Given the description of an element on the screen output the (x, y) to click on. 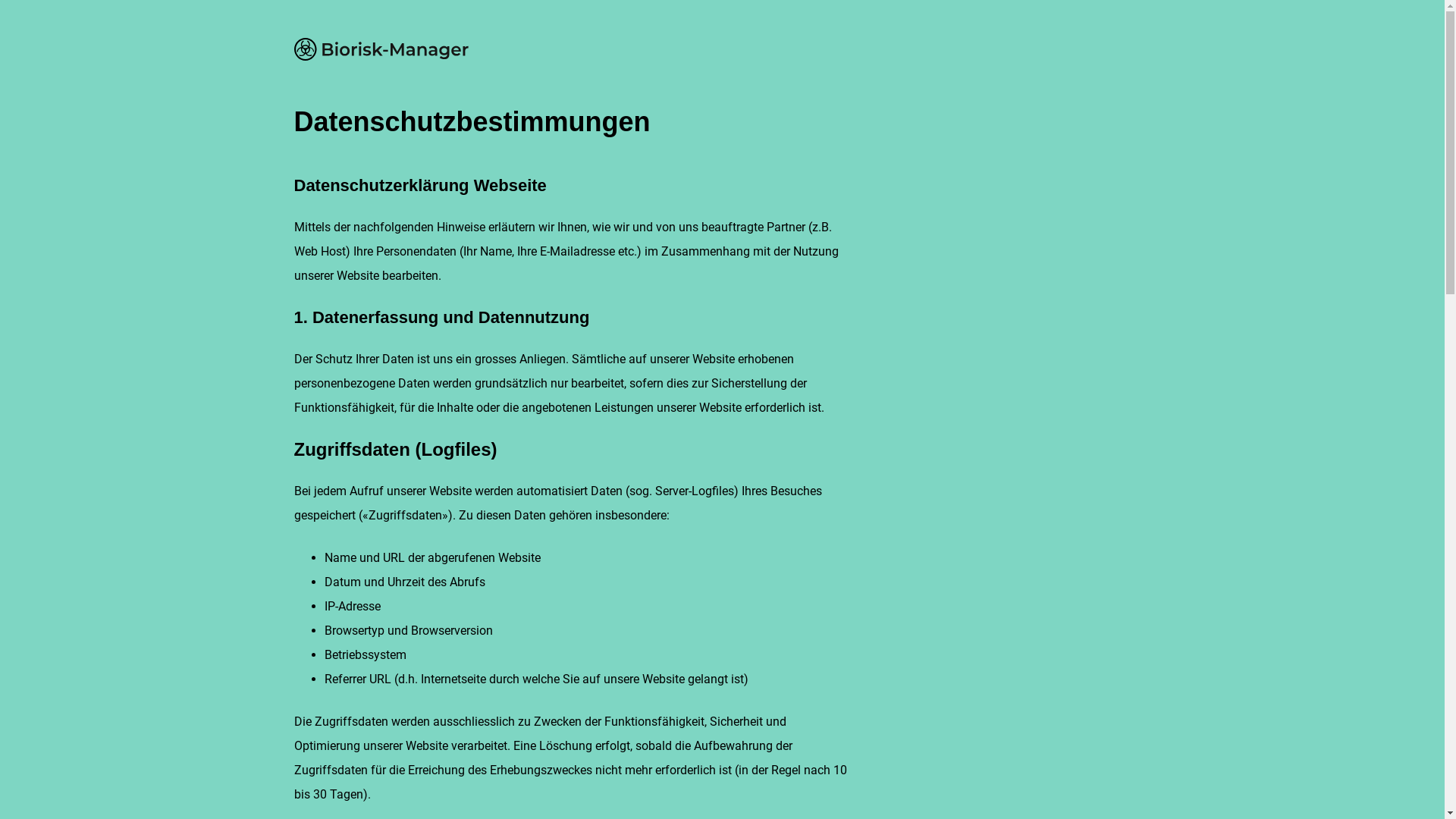
Direkt zum Inhalt Element type: text (0, 18)
